Given the description of an element on the screen output the (x, y) to click on. 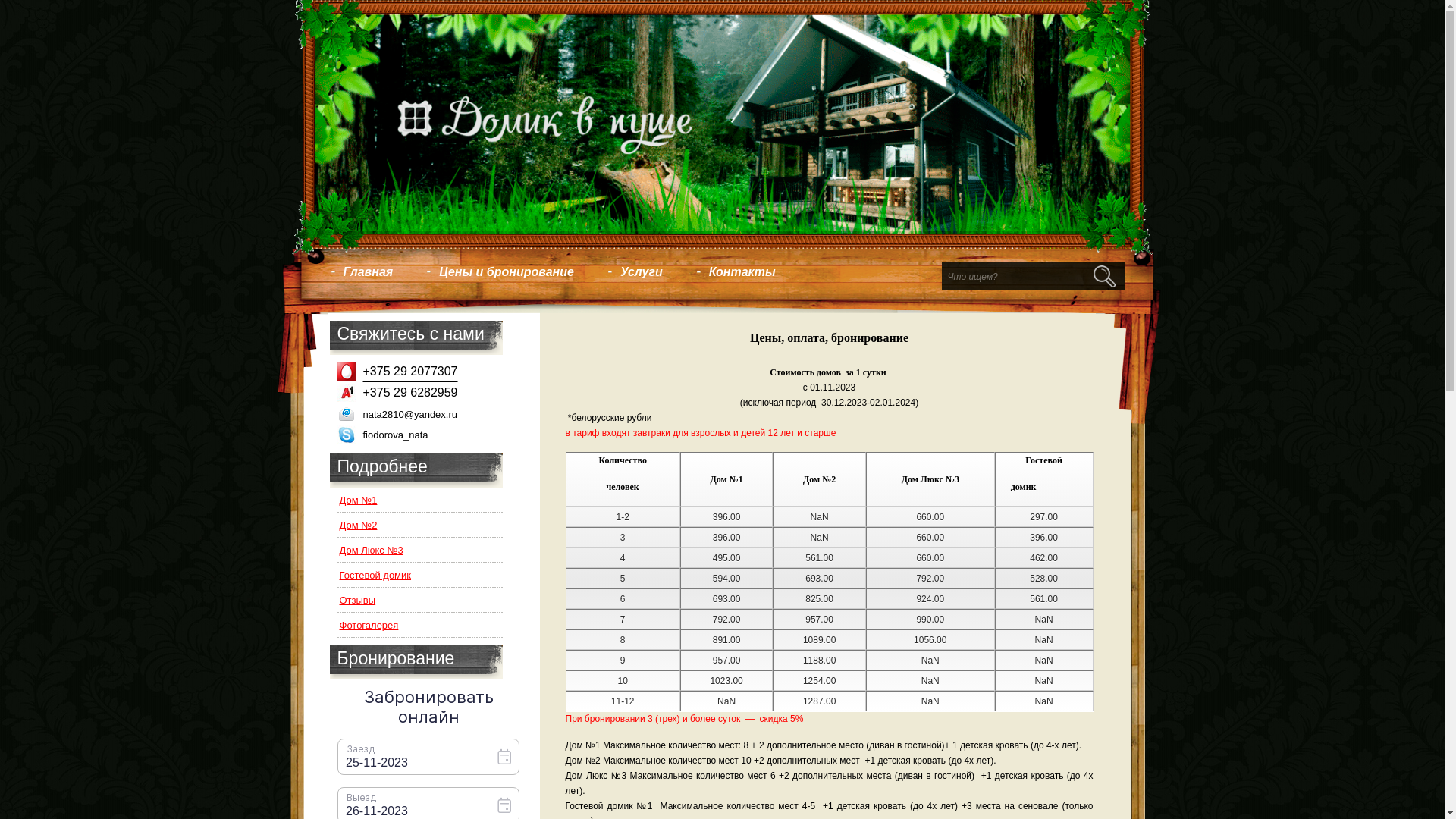
+375 29 2077307 Element type: text (405, 376)
+375 29 6282959 Element type: text (405, 398)
